Given the description of an element on the screen output the (x, y) to click on. 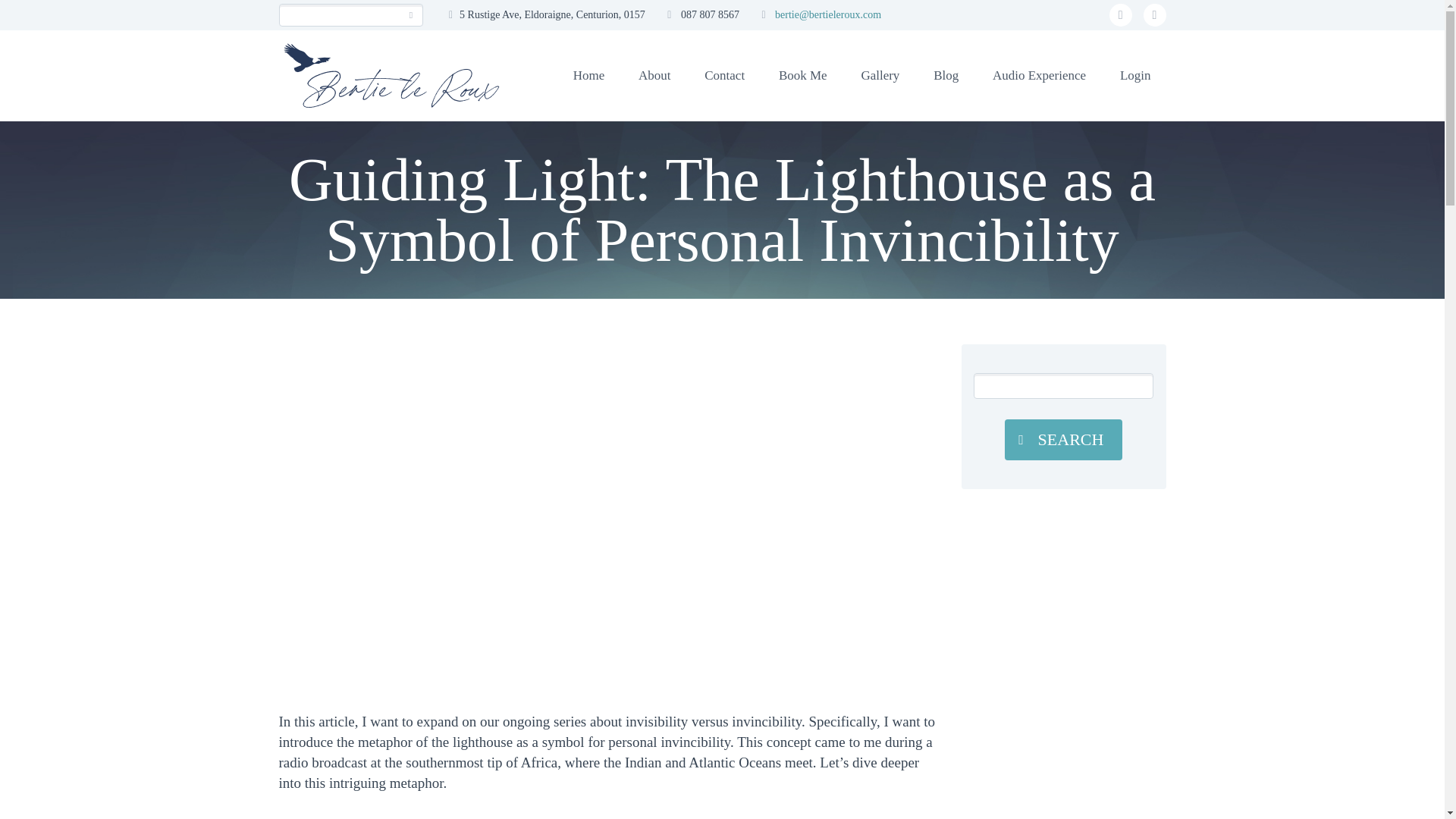
linkedin (1154, 15)
facebook (1120, 15)
linkedin (1154, 15)
Contact (724, 75)
Search (411, 15)
About (654, 75)
Audio Experience (1038, 75)
facebook (1120, 15)
Gallery (879, 75)
Book Me (802, 75)
Home (588, 75)
Login (1135, 75)
